Given the description of an element on the screen output the (x, y) to click on. 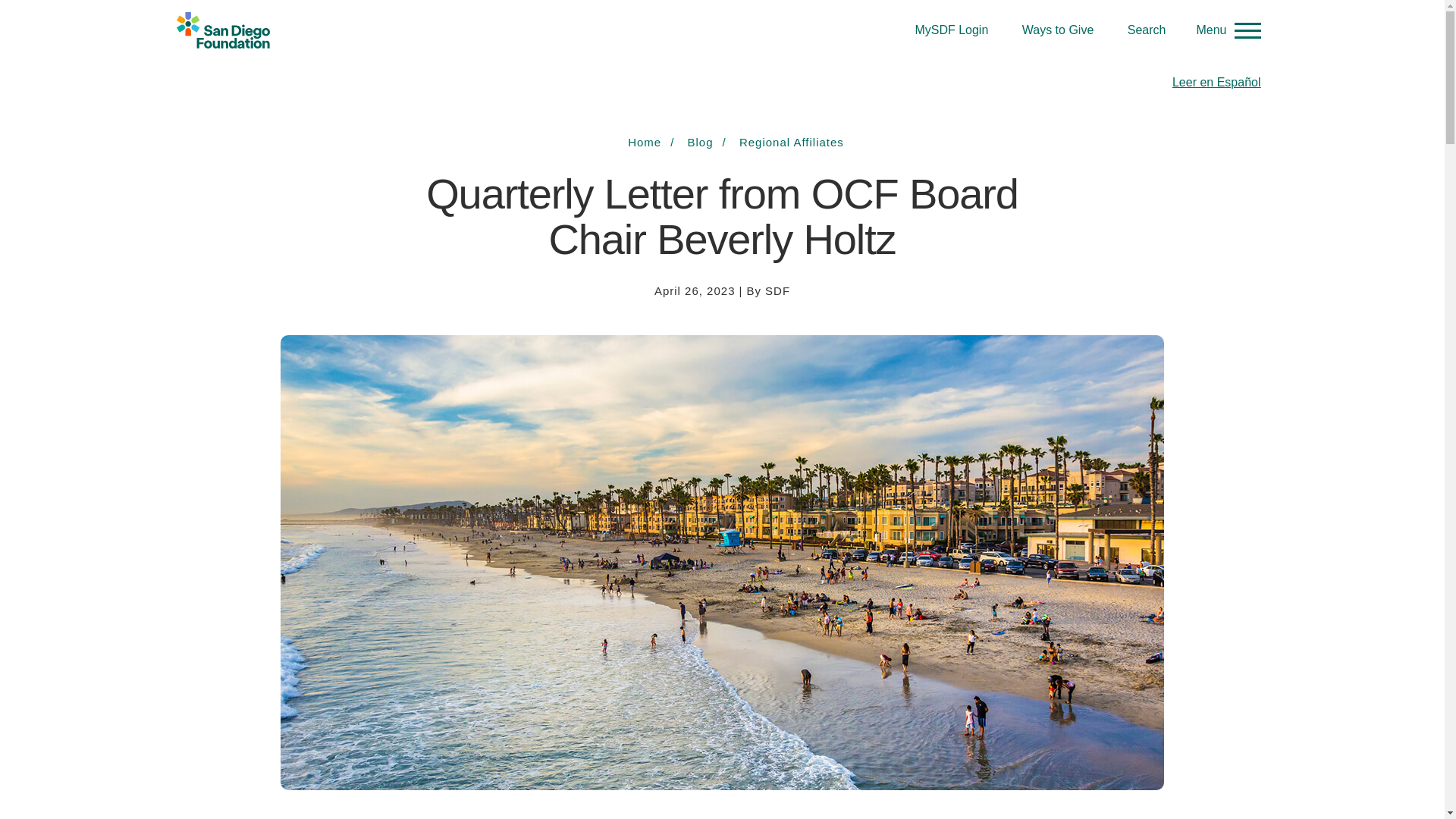
Ways to Give (1058, 29)
Search (1146, 29)
MySDF Login (951, 29)
